Given the description of an element on the screen output the (x, y) to click on. 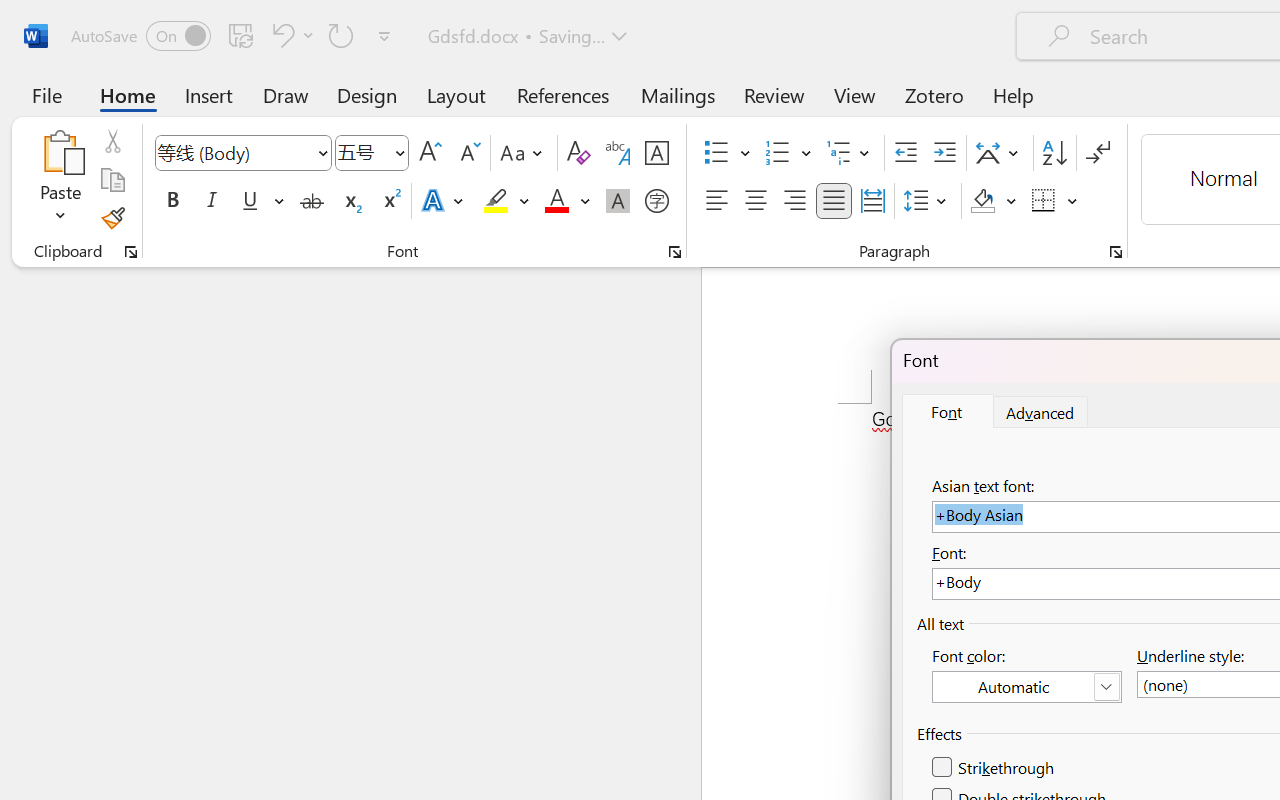
Decrease Indent (906, 153)
Shading RGB(0, 0, 0) (982, 201)
Show/Hide Editing Marks (1098, 153)
